Given the description of an element on the screen output the (x, y) to click on. 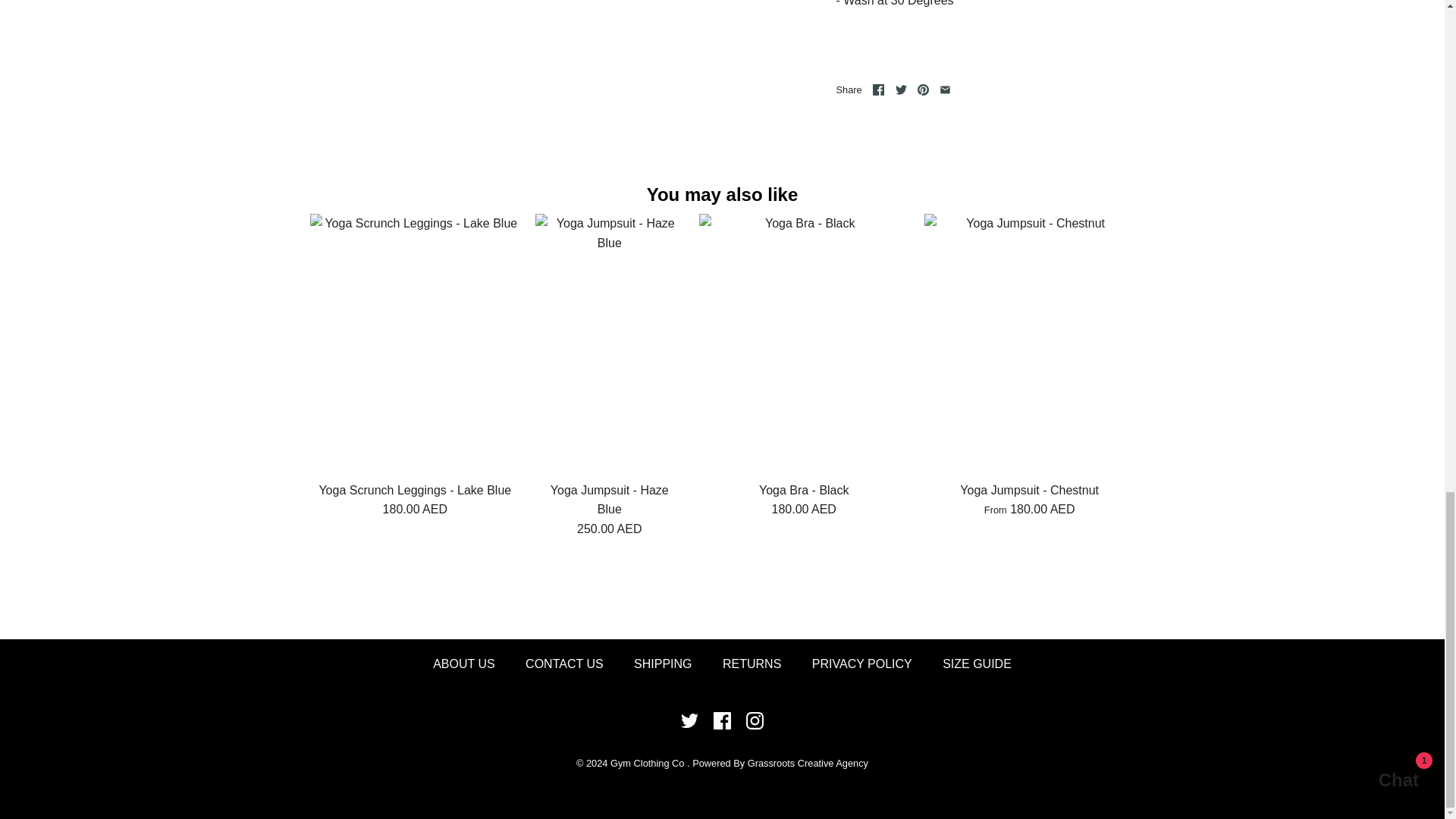
Facebook (877, 89)
Share using email (944, 89)
Facebook (721, 720)
Pinterest (922, 89)
Share on Twitter (901, 89)
Pin the main image (922, 89)
Twitter (689, 720)
Twitter (689, 720)
Facebook (721, 720)
Twitter (901, 89)
Instagram (753, 720)
Instagram (753, 720)
Email (944, 89)
Share on Facebook (877, 89)
